Given the description of an element on the screen output the (x, y) to click on. 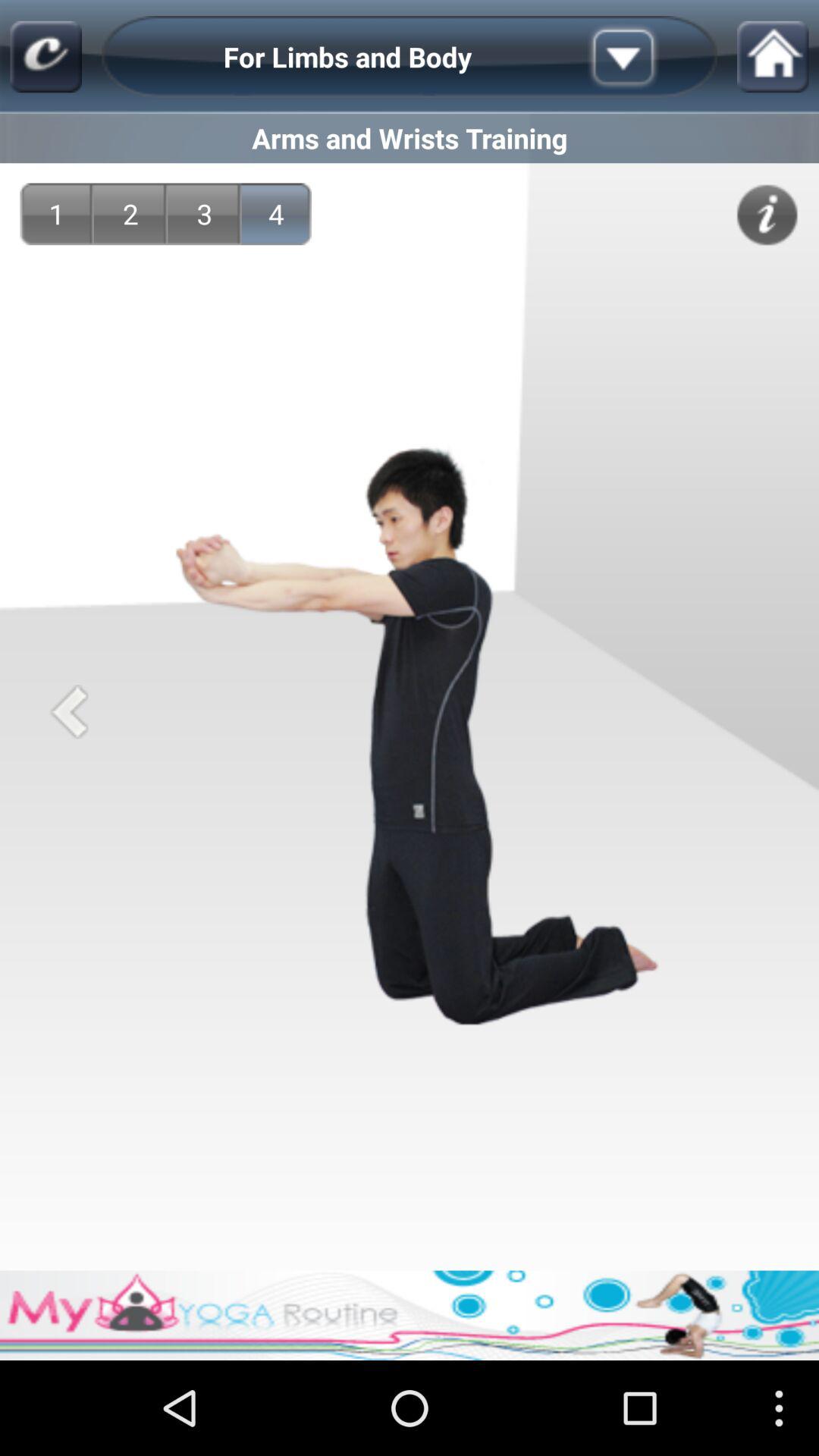
open item above arms and wrists app (646, 56)
